Given the description of an element on the screen output the (x, y) to click on. 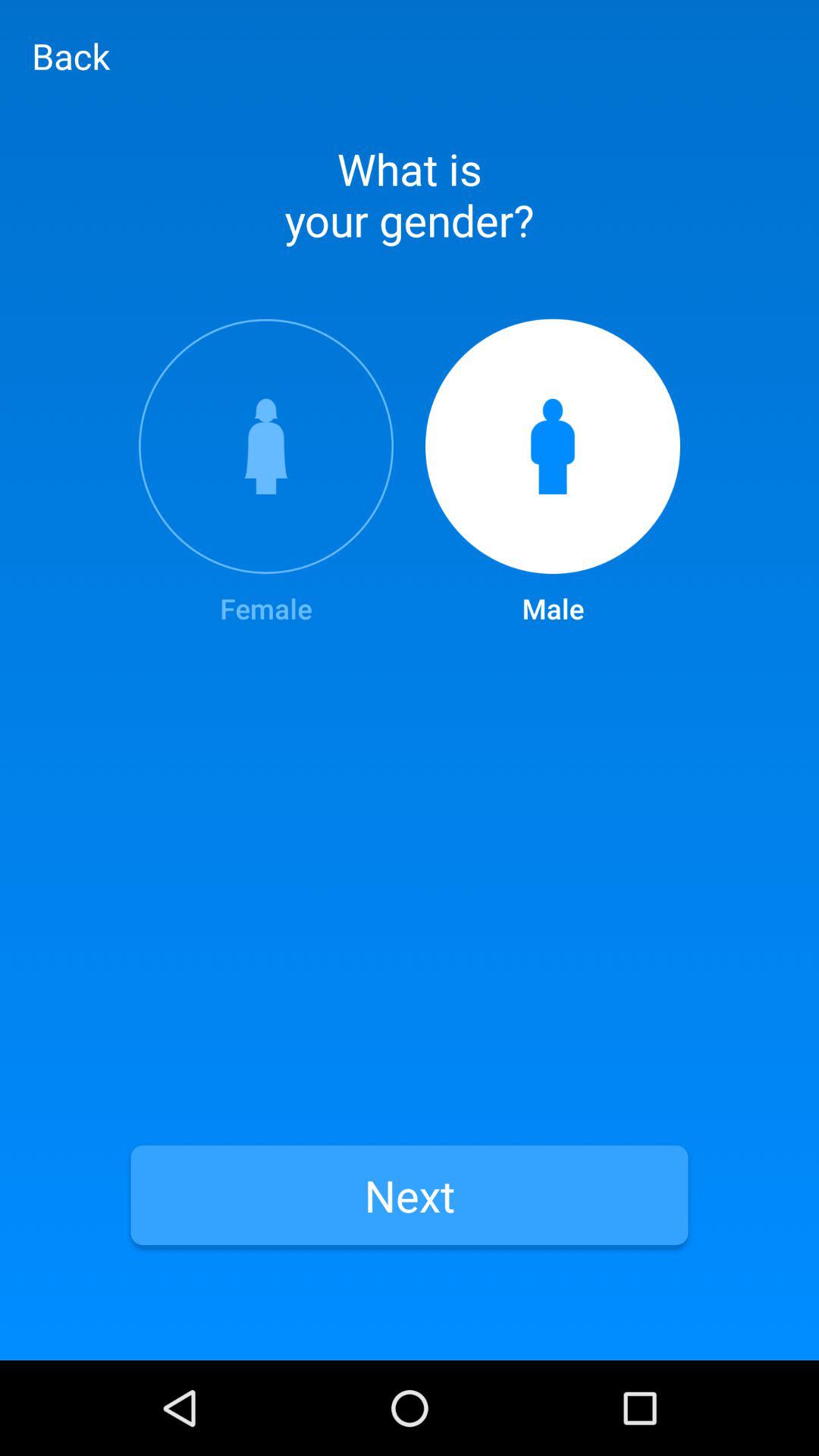
flip until next icon (409, 1194)
